Given the description of an element on the screen output the (x, y) to click on. 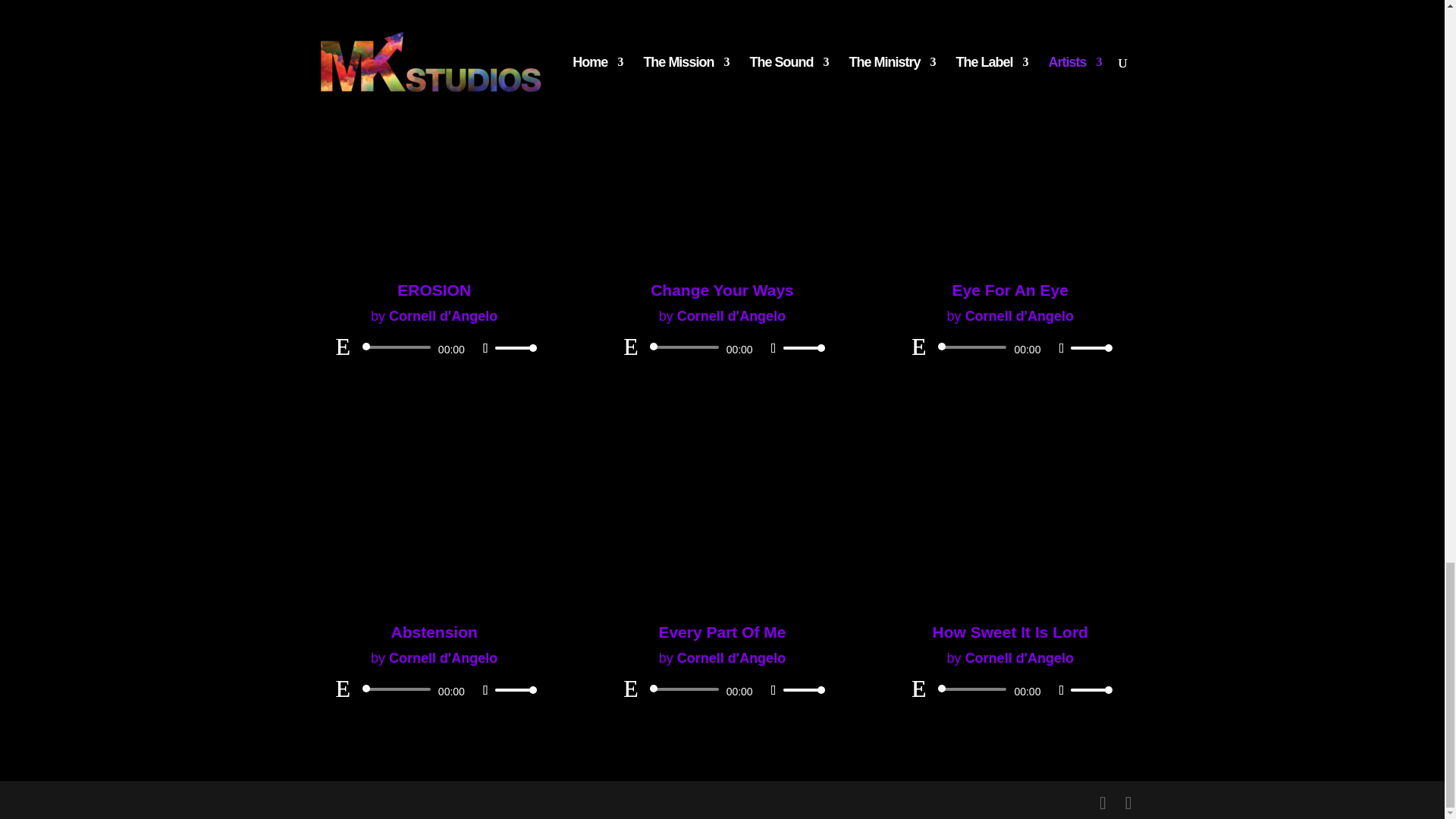
Play (918, 8)
Play (342, 8)
Play (631, 8)
